Given the description of an element on the screen output the (x, y) to click on. 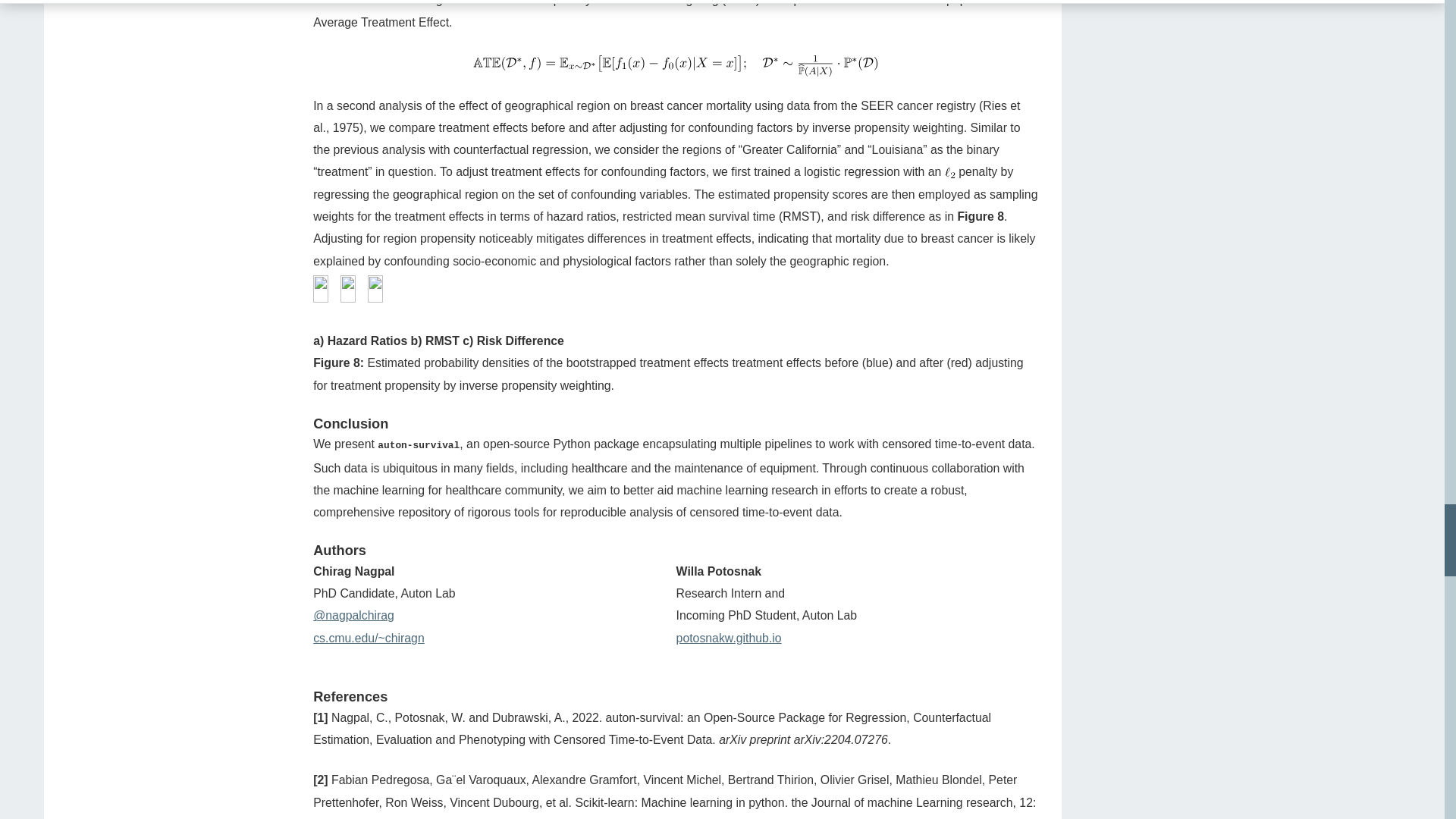
potosnakw.github.io (729, 637)
